Given the description of an element on the screen output the (x, y) to click on. 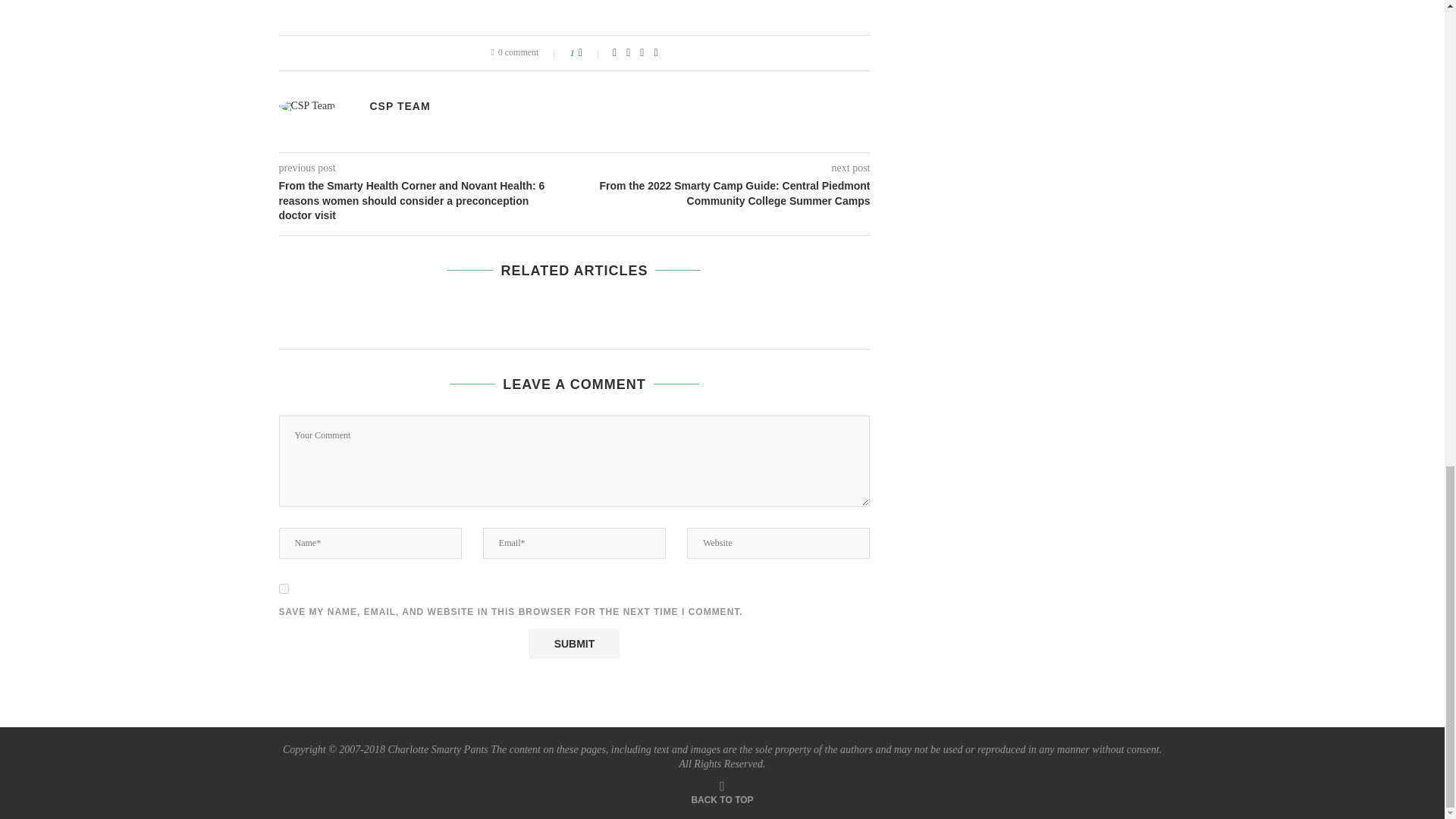
Like (590, 52)
Submit (574, 643)
yes (283, 588)
Posts by CSP Team (399, 105)
